Given the description of an element on the screen output the (x, y) to click on. 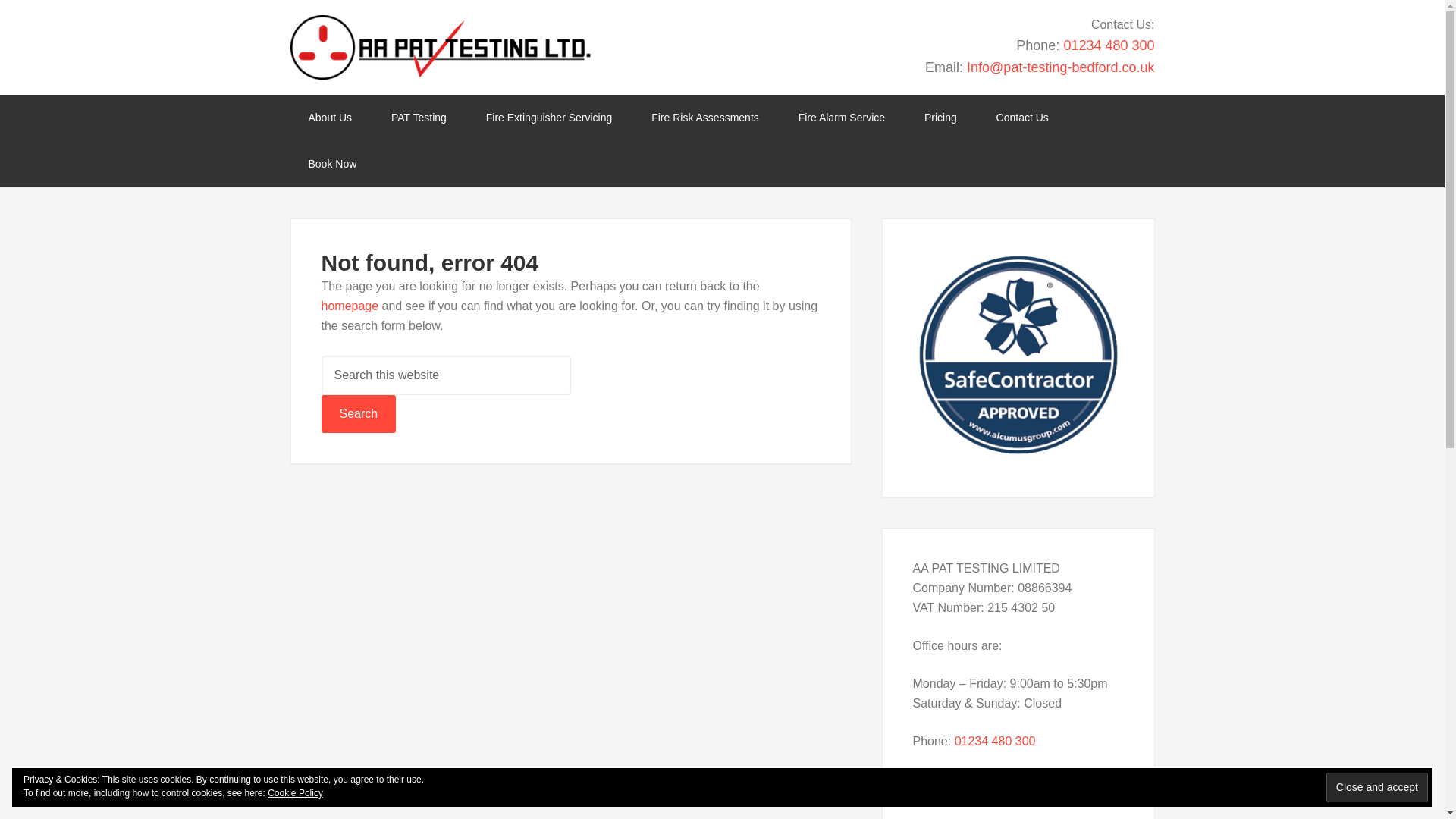
01234 480 300 (1108, 45)
Contact Us (1022, 117)
PAT Testing Bedford (440, 47)
Close and accept (1377, 787)
Search (358, 413)
Fire Alarm Service (841, 117)
Pricing (940, 117)
Fire Risk Assessments (705, 117)
Close and accept (1377, 787)
Search (358, 413)
